Given the description of an element on the screen output the (x, y) to click on. 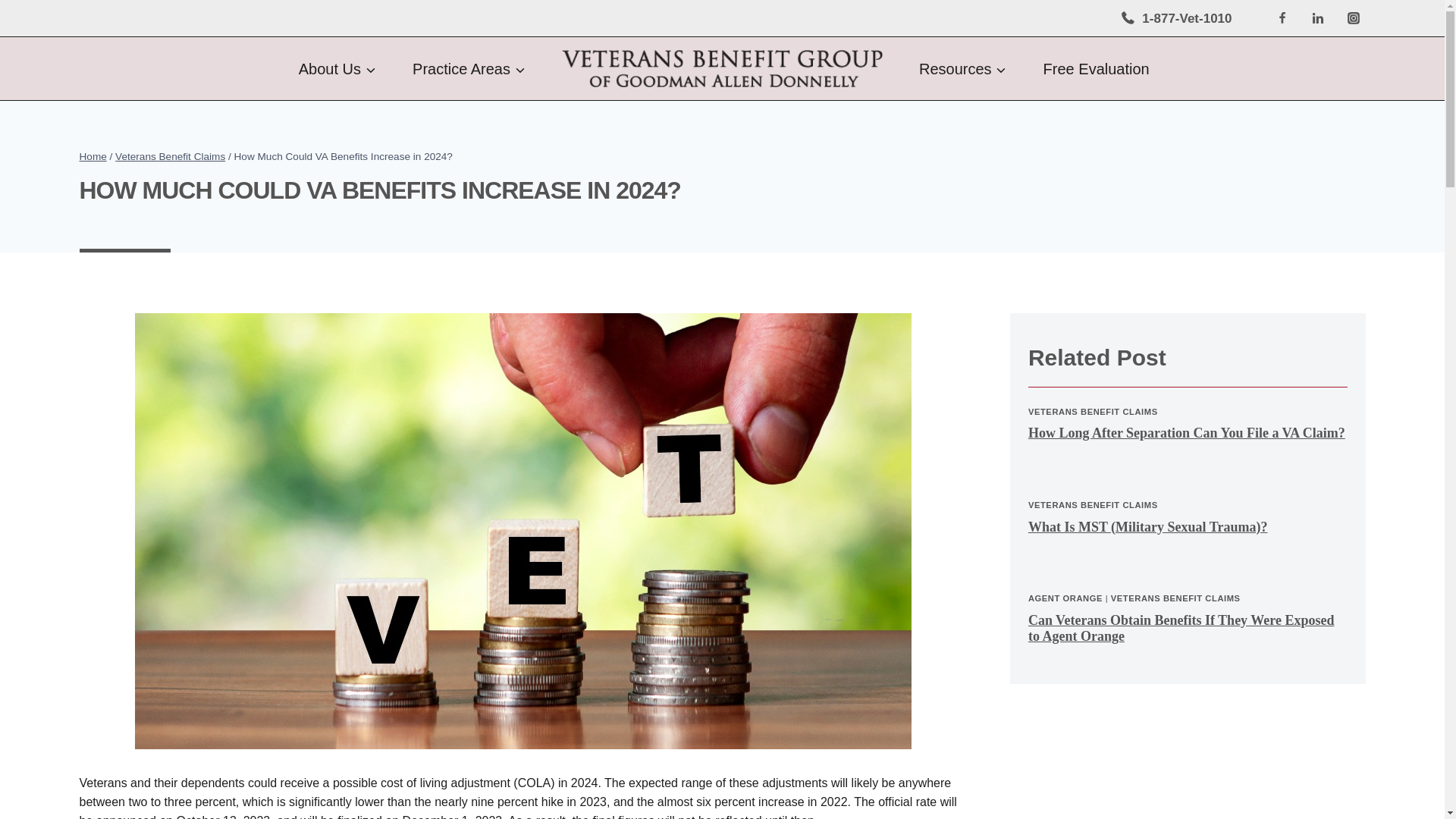
Home (92, 156)
1-877-Vet-1010 (1176, 18)
Practice Areas (468, 67)
Resources (962, 67)
Free Evaluation (1096, 67)
About Us (336, 67)
Veterans Benefit Claims (170, 156)
